Given the description of an element on the screen output the (x, y) to click on. 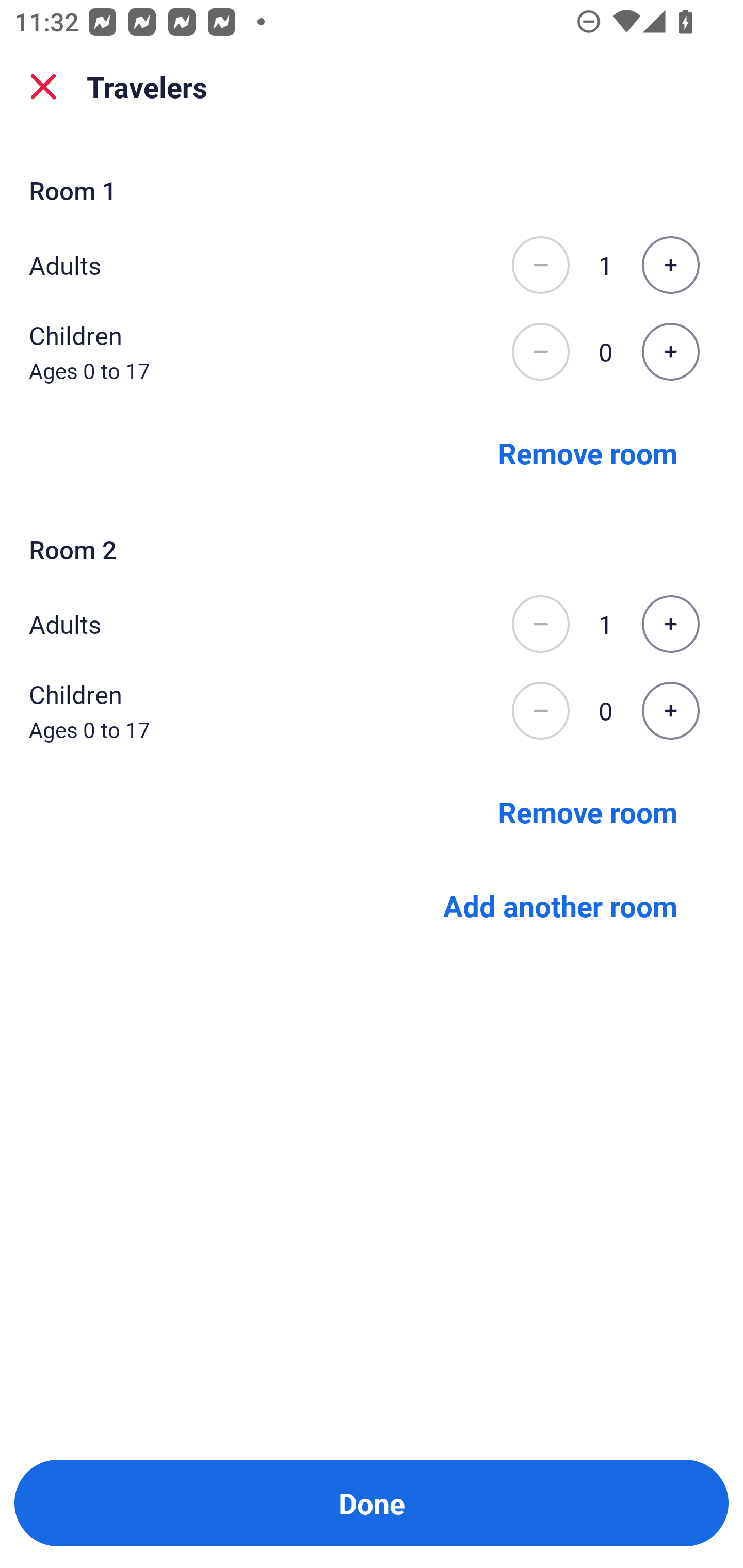
close (43, 86)
Decrease the number of adults (540, 264)
Increase the number of adults (670, 264)
Decrease the number of children (540, 351)
Increase the number of children (670, 351)
Remove room (588, 452)
Decrease the number of adults (540, 623)
Increase the number of adults (670, 623)
Decrease the number of children (540, 710)
Increase the number of children (670, 710)
Remove room (588, 811)
Add another room (560, 905)
Done (371, 1502)
